Given the description of an element on the screen output the (x, y) to click on. 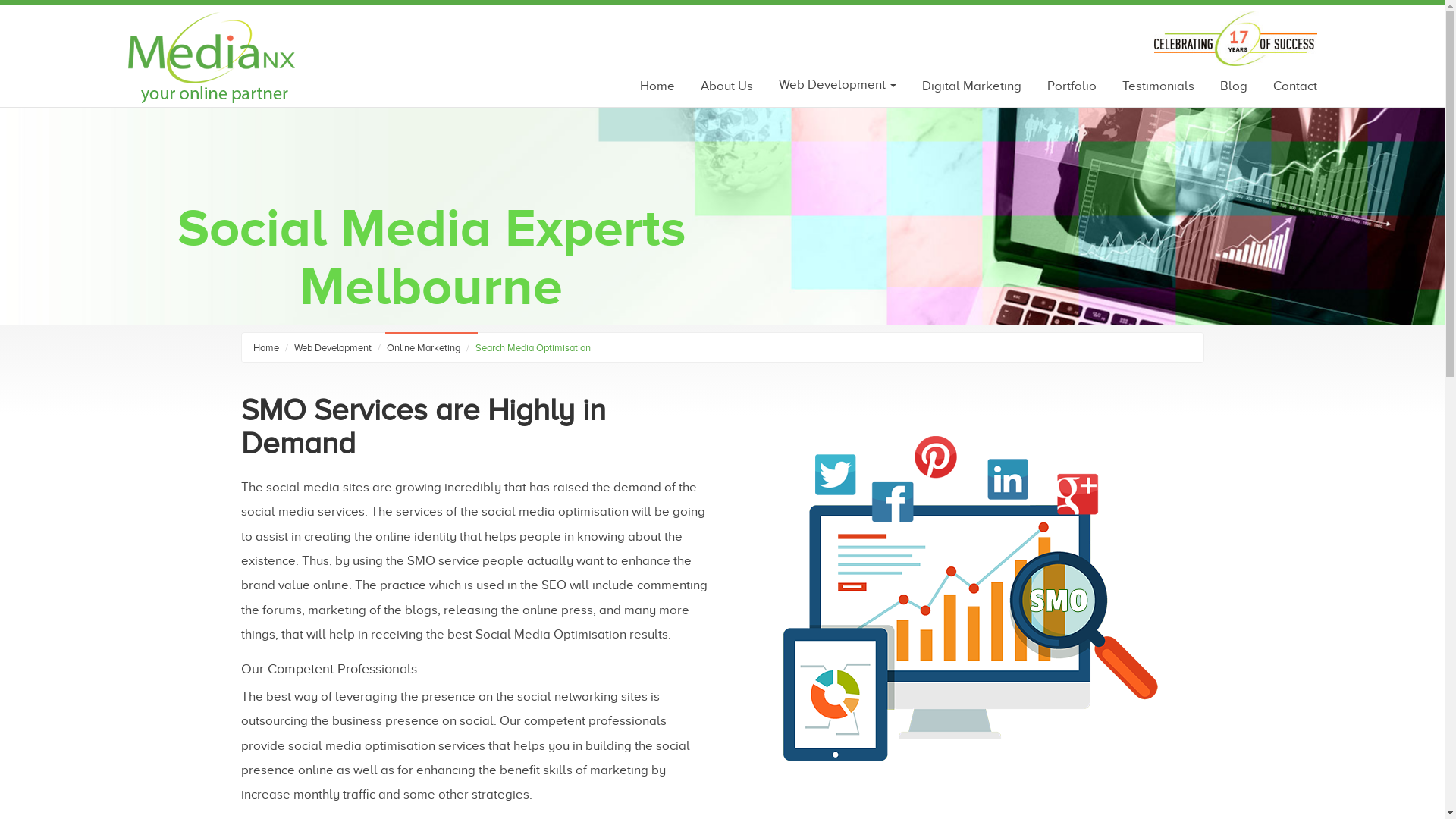
Blog Element type: text (1233, 86)
Testimonials Element type: text (1158, 86)
Home Element type: text (266, 347)
Digital Marketing Element type: text (971, 86)
Home Element type: text (657, 86)
About Us Element type: text (726, 86)
Online Marketing Element type: text (423, 347)
Contact Element type: text (1288, 86)
Portfolio Element type: text (1071, 86)
Web Development Element type: text (831, 84)
Web Development Element type: text (332, 347)
